Given the description of an element on the screen output the (x, y) to click on. 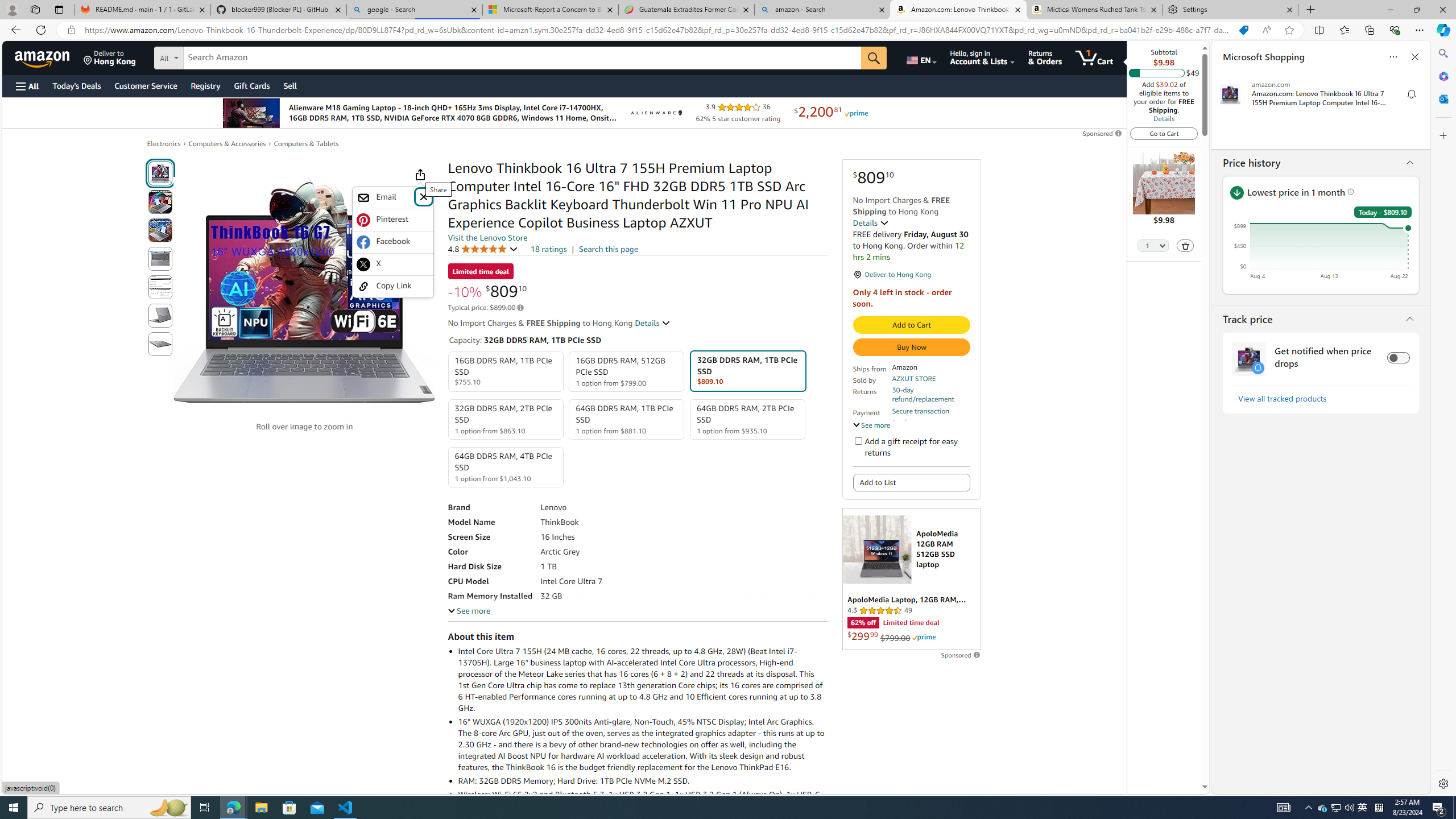
Prime (923, 637)
30-day refund/replacement (930, 394)
Details (1163, 118)
Amazon (43, 57)
Product support included (930, 427)
Open Menu (26, 86)
Choose a language for shopping. (920, 57)
AZXUT STORE (913, 378)
Copy Link (392, 286)
